Given the description of an element on the screen output the (x, y) to click on. 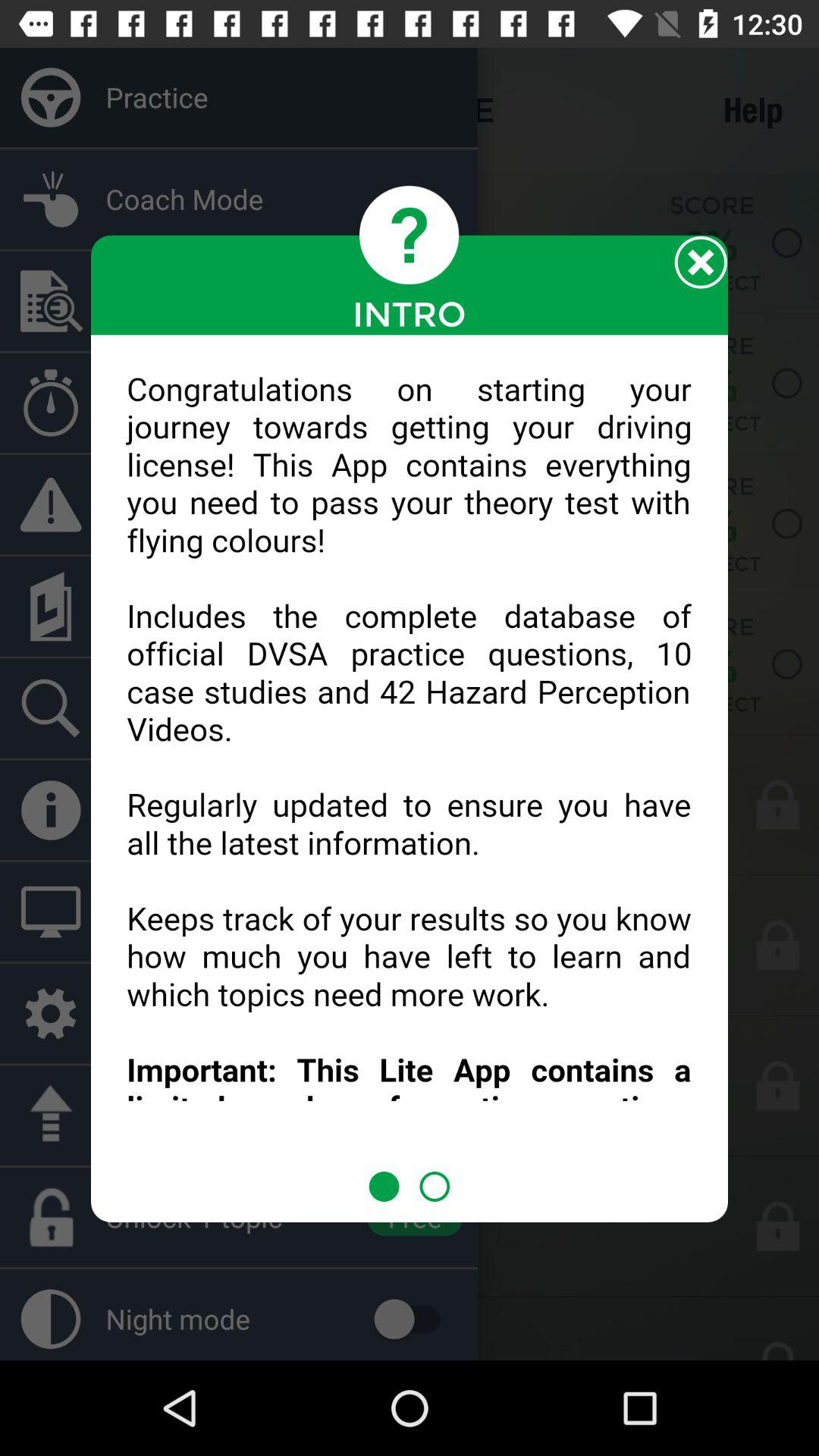
see the introduction (409, 752)
